Given the description of an element on the screen output the (x, y) to click on. 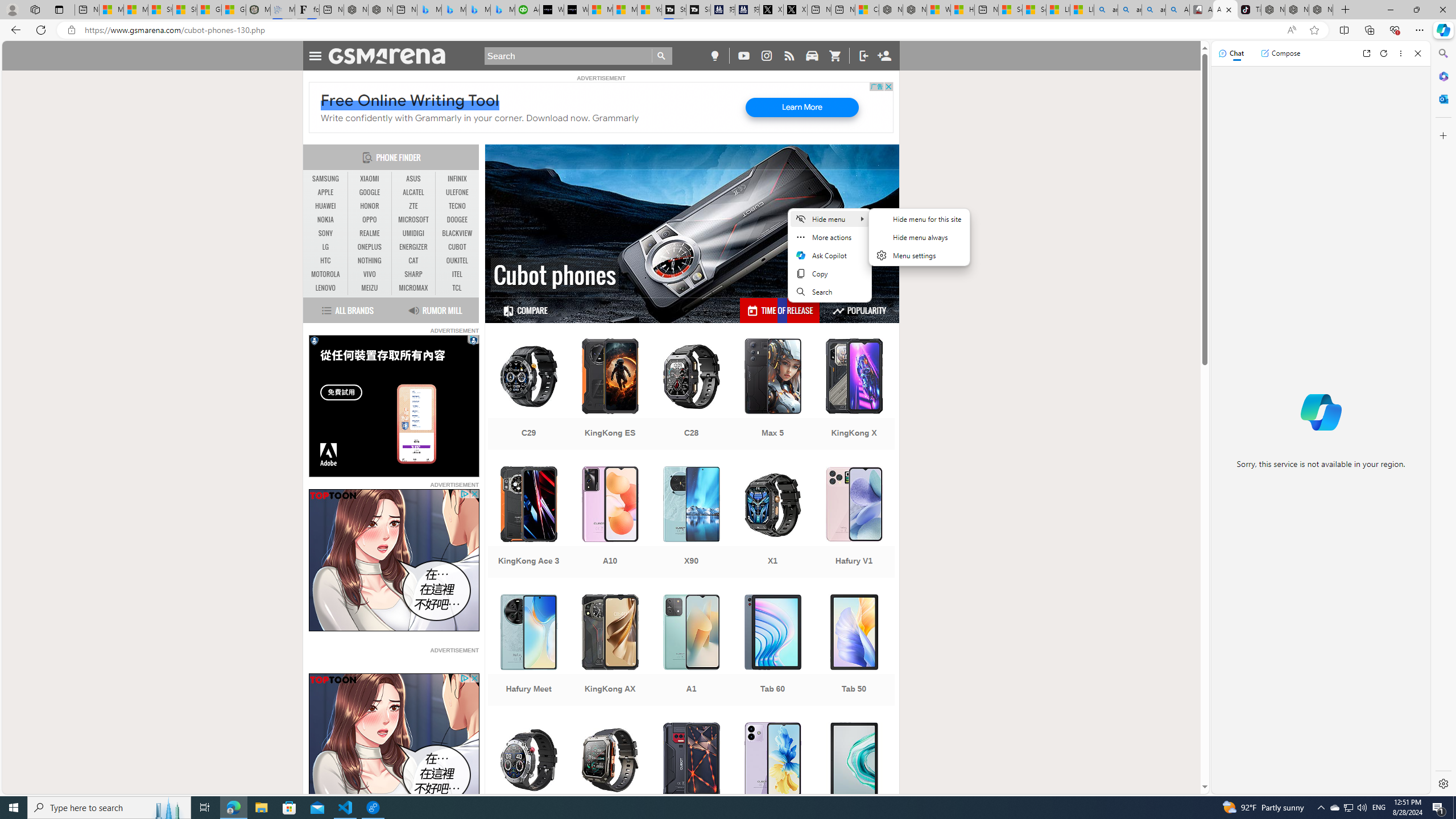
KingKong ES (609, 395)
AutomationID: button (313, 340)
Manatee Mortality Statistics | FWC (258, 9)
Chat (1231, 52)
LG (325, 246)
MOTOROLA (325, 273)
TECNO (457, 206)
Accounting Software for Accountants, CPAs and Bookkeepers (526, 9)
TCL (457, 287)
OPPO (369, 219)
